Given the description of an element on the screen output the (x, y) to click on. 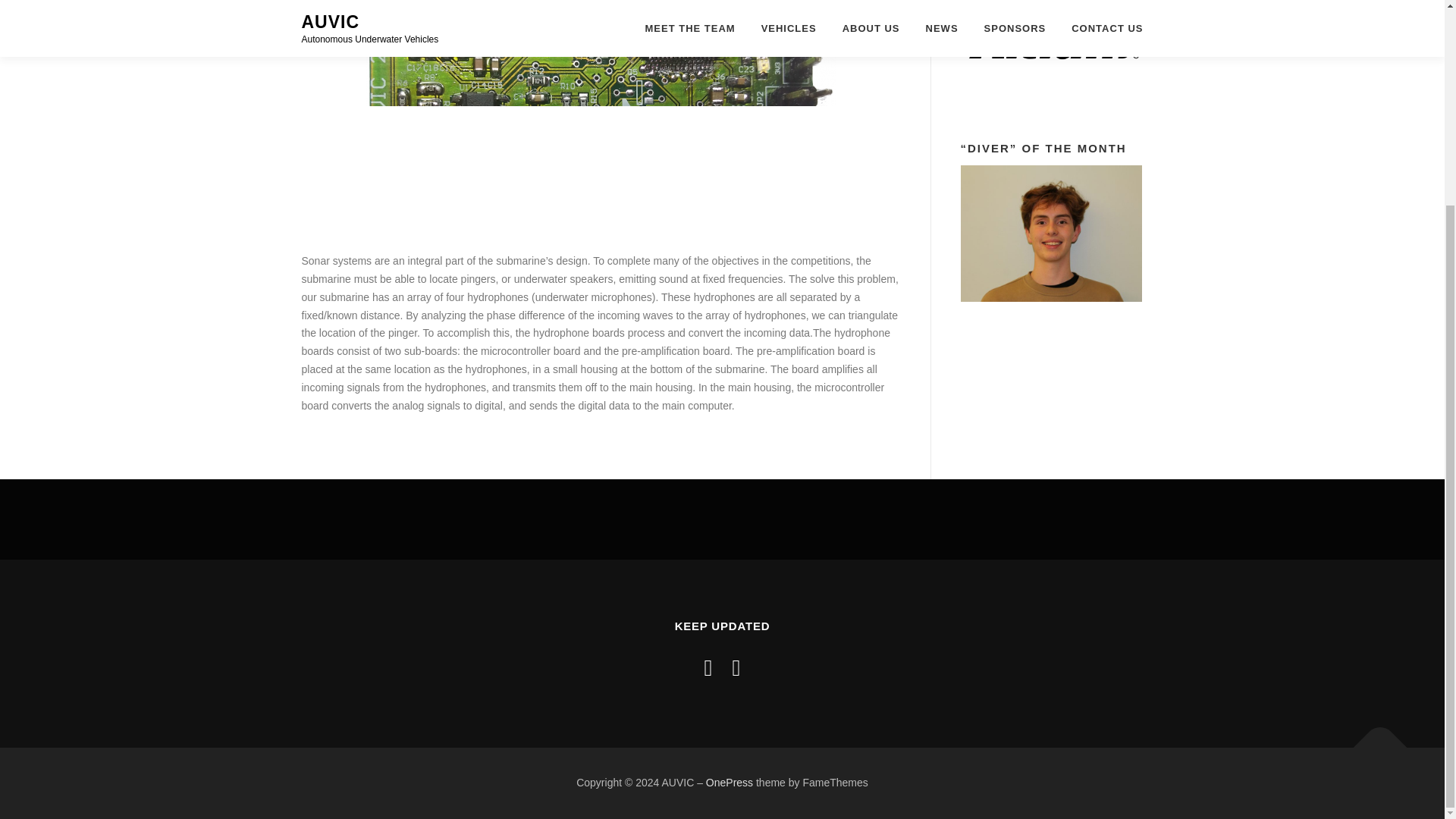
OnePress (729, 782)
"Diver" of the month (1050, 233)
Back To Top (1372, 740)
